Given the description of an element on the screen output the (x, y) to click on. 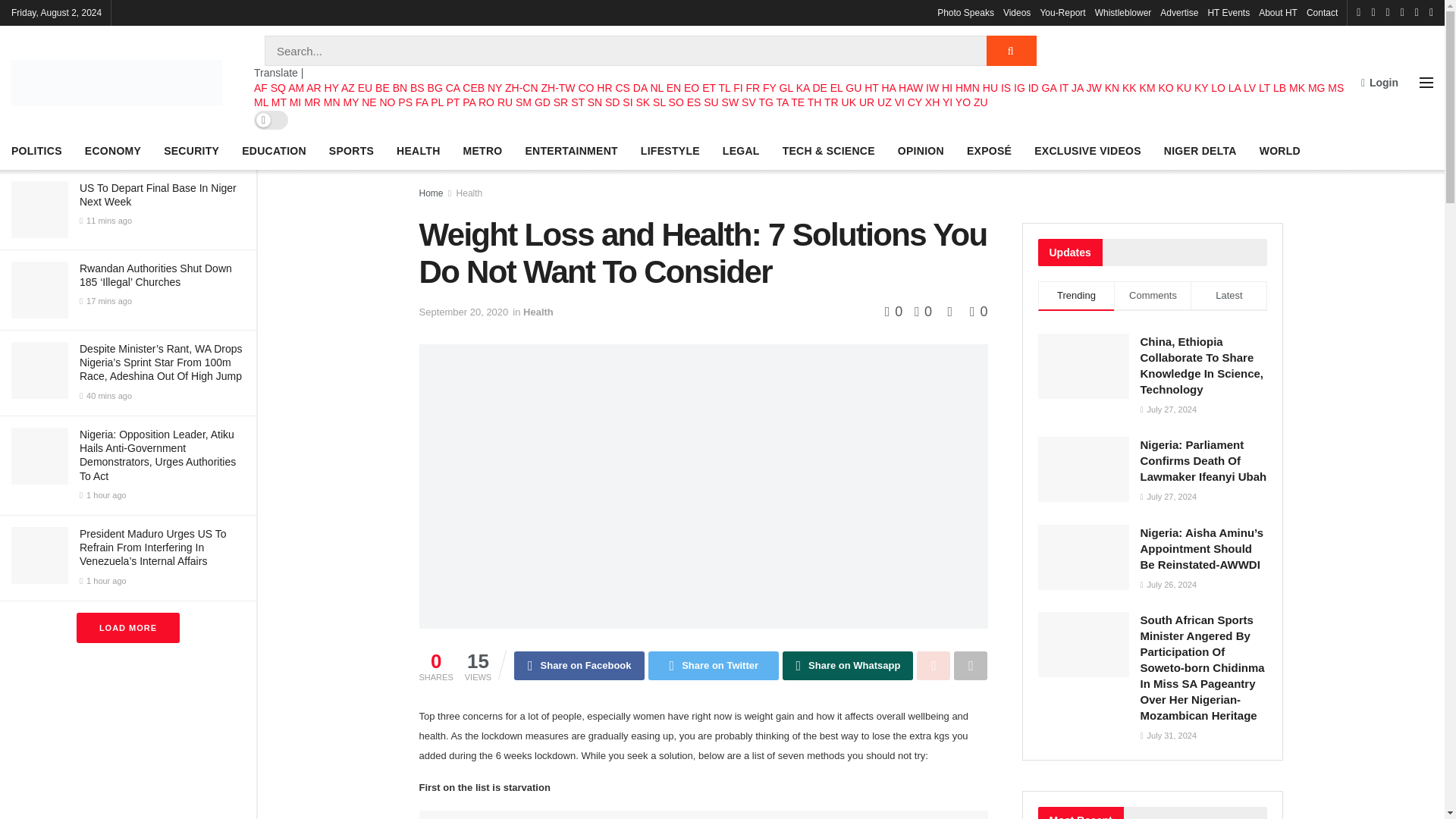
Amharic (296, 87)
Belarusian (382, 87)
Azerbaijani (347, 87)
About HT (1278, 12)
US To Depart Final Base In Niger Next Week (157, 194)
Filter (227, 13)
Bengali (400, 87)
HT Events (1228, 12)
Armenian (331, 87)
Contact (1322, 12)
Bosnian (417, 87)
LOAD MORE (128, 627)
Bulgarian (435, 87)
Afrikaans (260, 87)
Basque (365, 87)
